Given the description of an element on the screen output the (x, y) to click on. 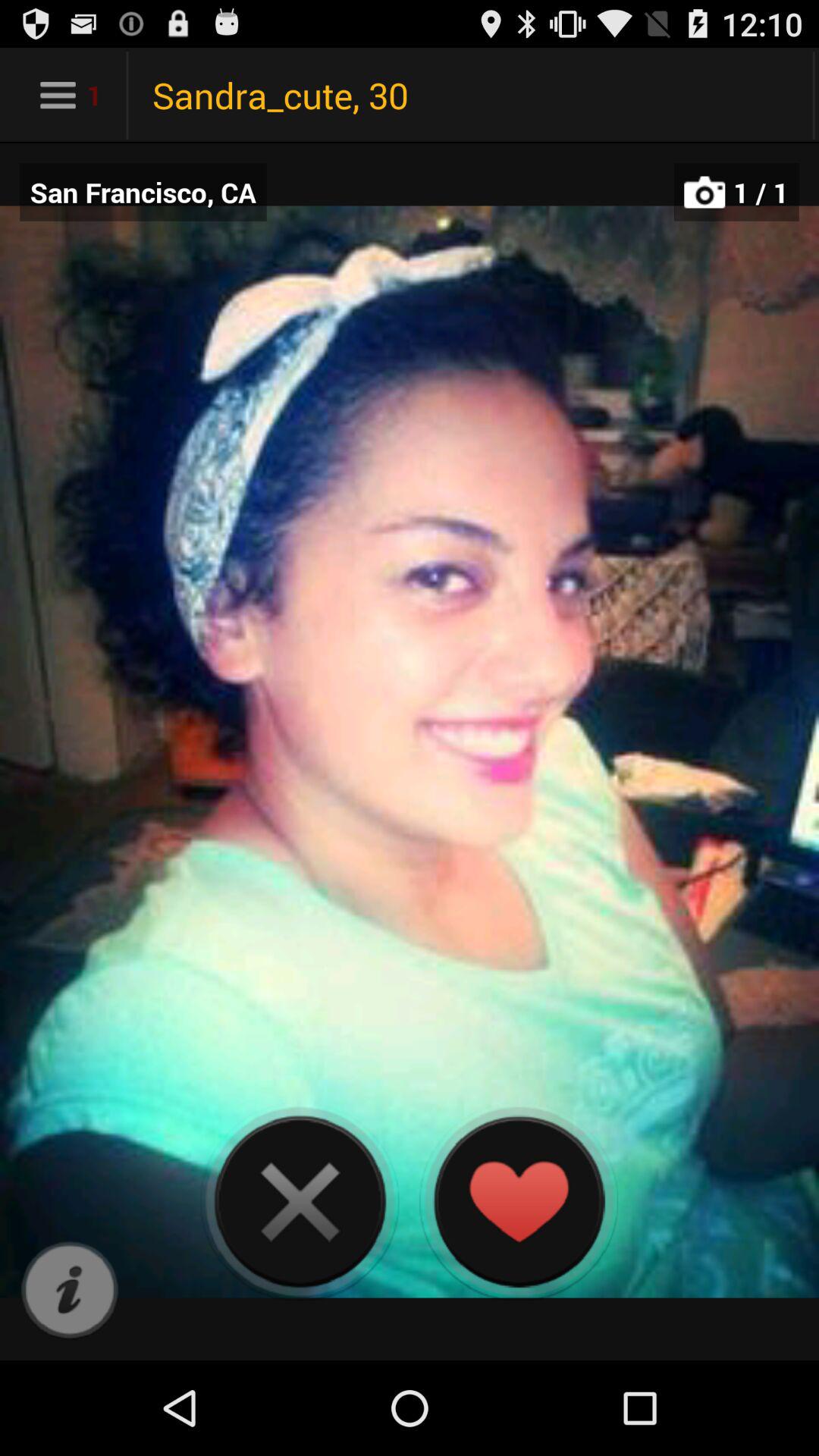
add to favorite (518, 1200)
